Given the description of an element on the screen output the (x, y) to click on. 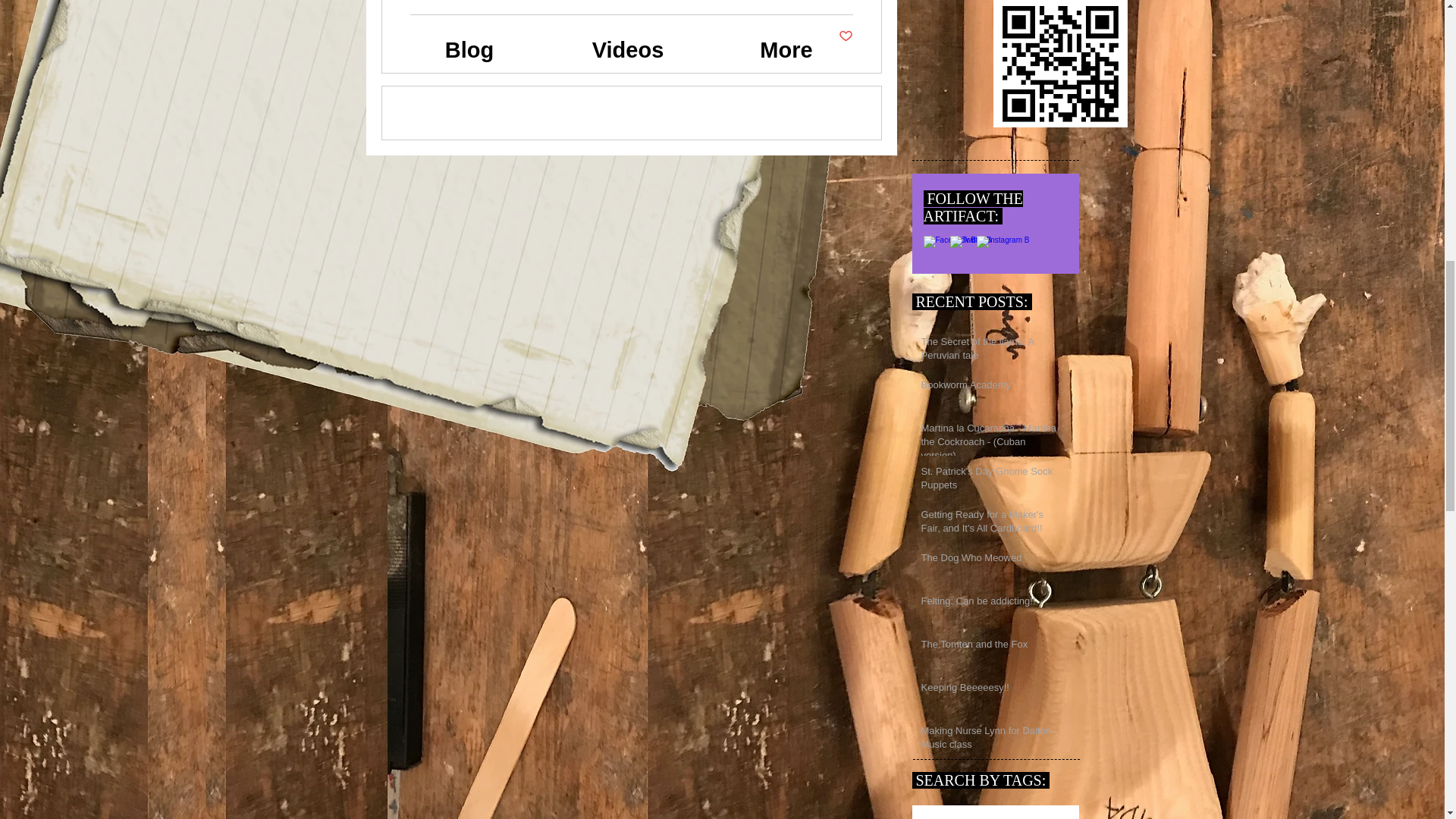
The Dog Who Meowed (989, 560)
The Secret of the llama: A Peruvian tale (989, 351)
Bookworm Academy (989, 387)
Post not marked as liked (845, 36)
Felting: Can be addicting!! (989, 604)
The Tomten and the Fox (989, 646)
Keeping Beeeeesy!! (989, 690)
Getting Ready for a Maker's Fair, and It's All Cardboard!! (989, 524)
Making Nurse Lynn for Dalton Music class (989, 739)
St. Patrick's Day Gnome Sock Puppets (989, 480)
